Given the description of an element on the screen output the (x, y) to click on. 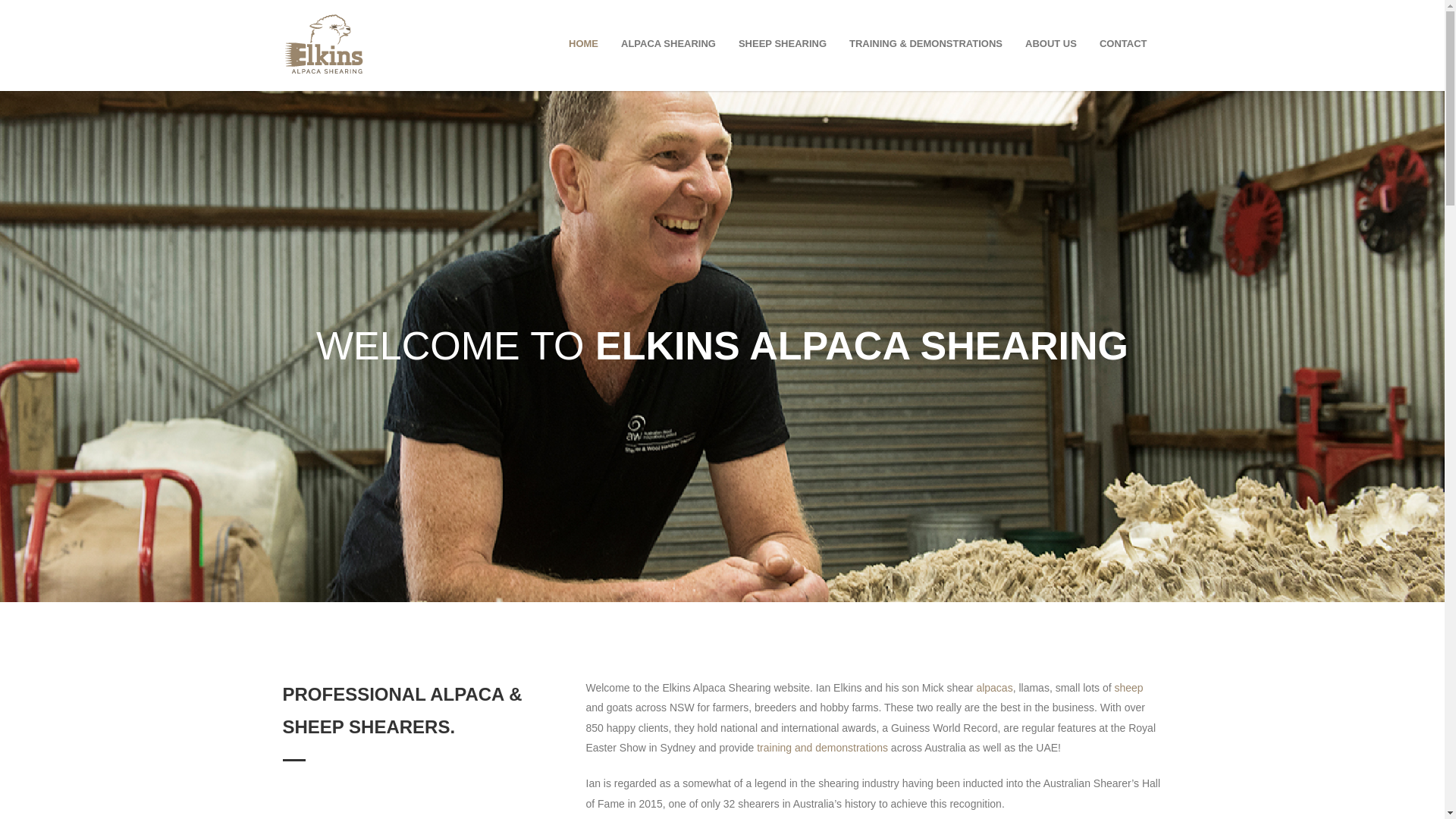
sheep Element type: text (1127, 687)
CONTACT Element type: text (1123, 43)
alpacas Element type: text (993, 687)
TRAINING & DEMONSTRATIONS Element type: text (925, 43)
ABOUT US Element type: text (1050, 43)
ALPACA SHEARING Element type: text (668, 43)
SHEEP SHEARING Element type: text (782, 43)
HOME Element type: text (583, 43)
training and demonstrations Element type: text (822, 747)
